Given the description of an element on the screen output the (x, y) to click on. 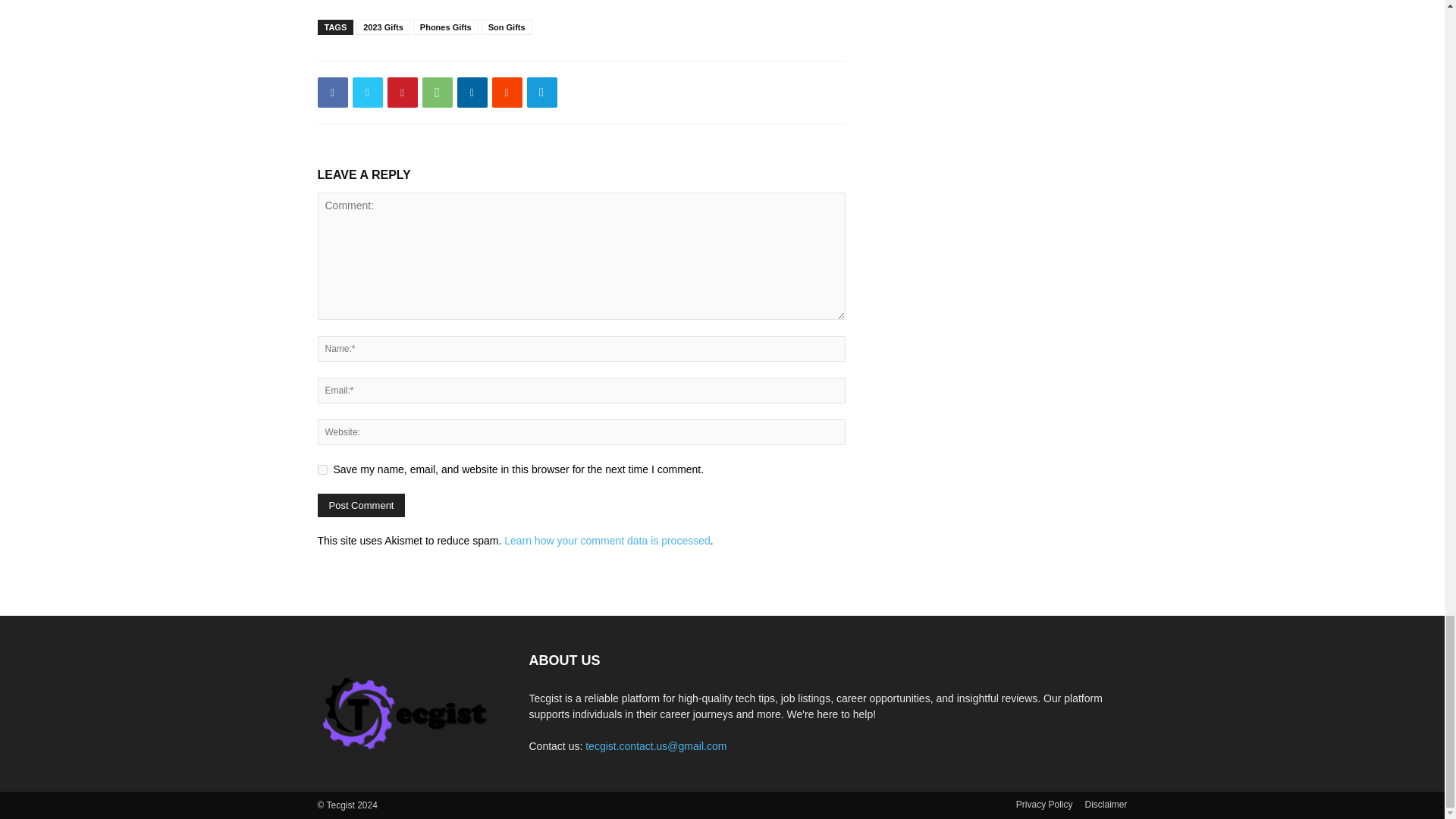
Phones Gifts (446, 27)
yes (321, 470)
Pinterest (401, 91)
Facebook (332, 91)
Twitter (366, 91)
Son Gifts (506, 27)
Post Comment (360, 504)
WhatsApp (436, 91)
2023 Gifts (383, 27)
